Given the description of an element on the screen output the (x, y) to click on. 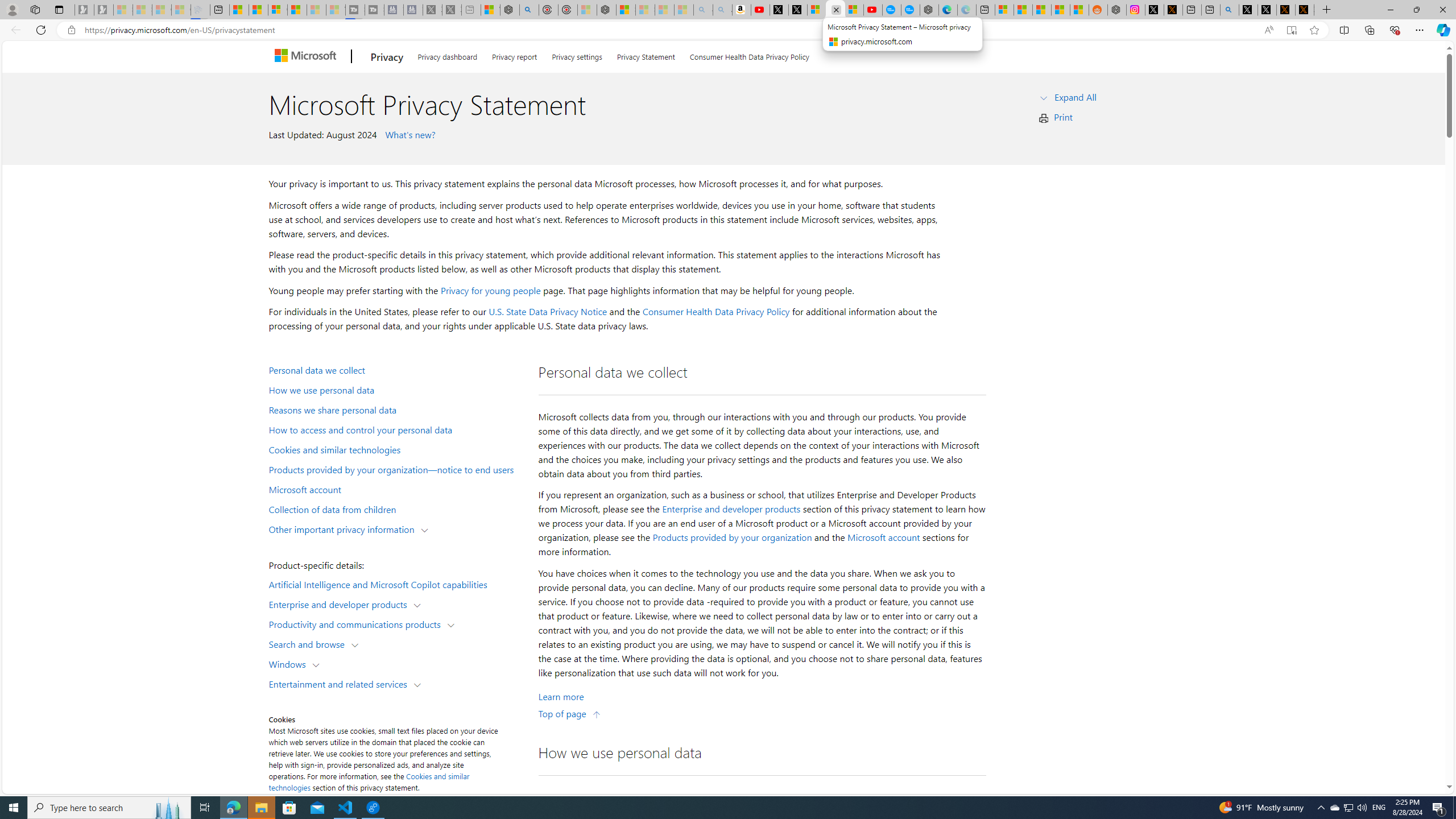
How we use personal data (395, 389)
Nordace - Nordace Siena Is Not An Ordinary Backpack (606, 9)
Reasons we share personal data (395, 409)
Privacy settings (577, 54)
Profile / X (1248, 9)
Privacy Statement (645, 54)
Privacy report (514, 54)
